Given the description of an element on the screen output the (x, y) to click on. 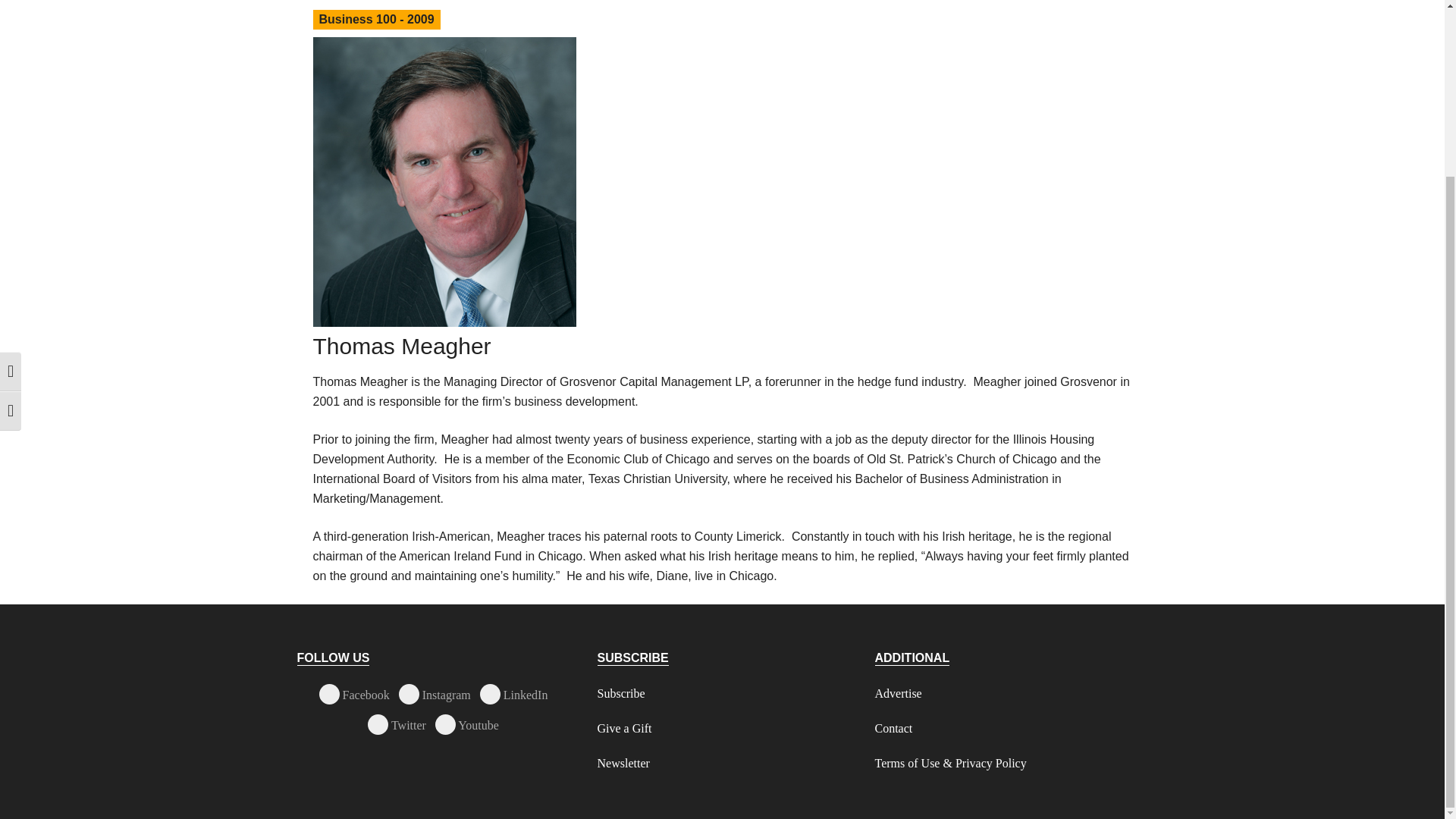
Newsletter (622, 762)
Contact (893, 727)
Give a Gift (624, 727)
Subscribe (620, 693)
Advertise (898, 693)
